Given the description of an element on the screen output the (x, y) to click on. 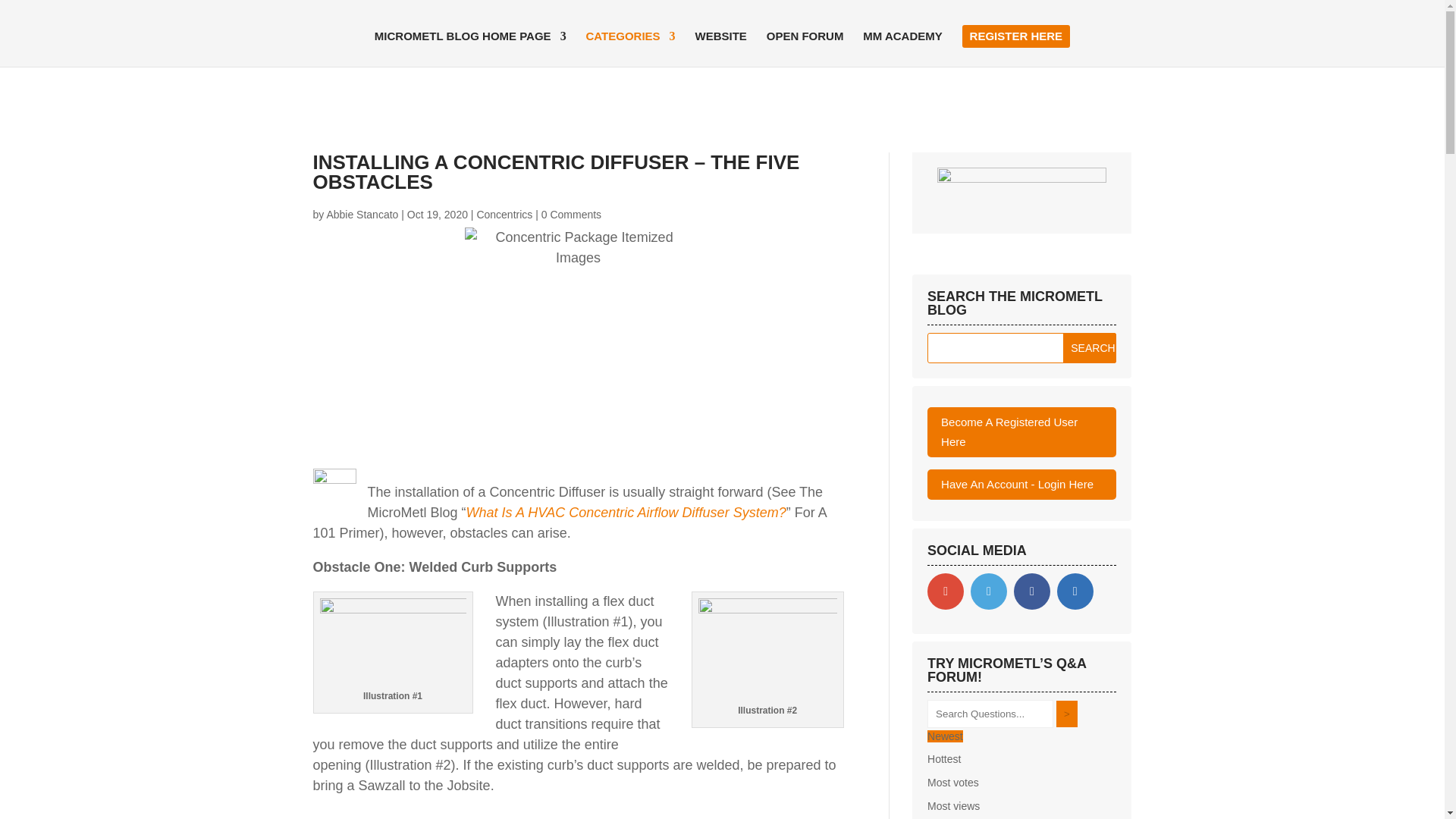
REGISTER HERE (1016, 36)
Facebook (1031, 591)
CATEGORIES (630, 48)
OPEN FORUM (805, 48)
MM ACADEMY (902, 48)
Linkedin (1075, 591)
Posts by Abbie Stancato (361, 214)
Search (1089, 347)
Twitter (989, 591)
Concentrics (504, 214)
Search (1089, 347)
WEBSITE (719, 48)
MICROMETL BLOG HOME PAGE (470, 48)
Abbie Stancato (361, 214)
What Is A HVAC Concentric Airflow Diffuser System? (625, 512)
